Given the description of an element on the screen output the (x, y) to click on. 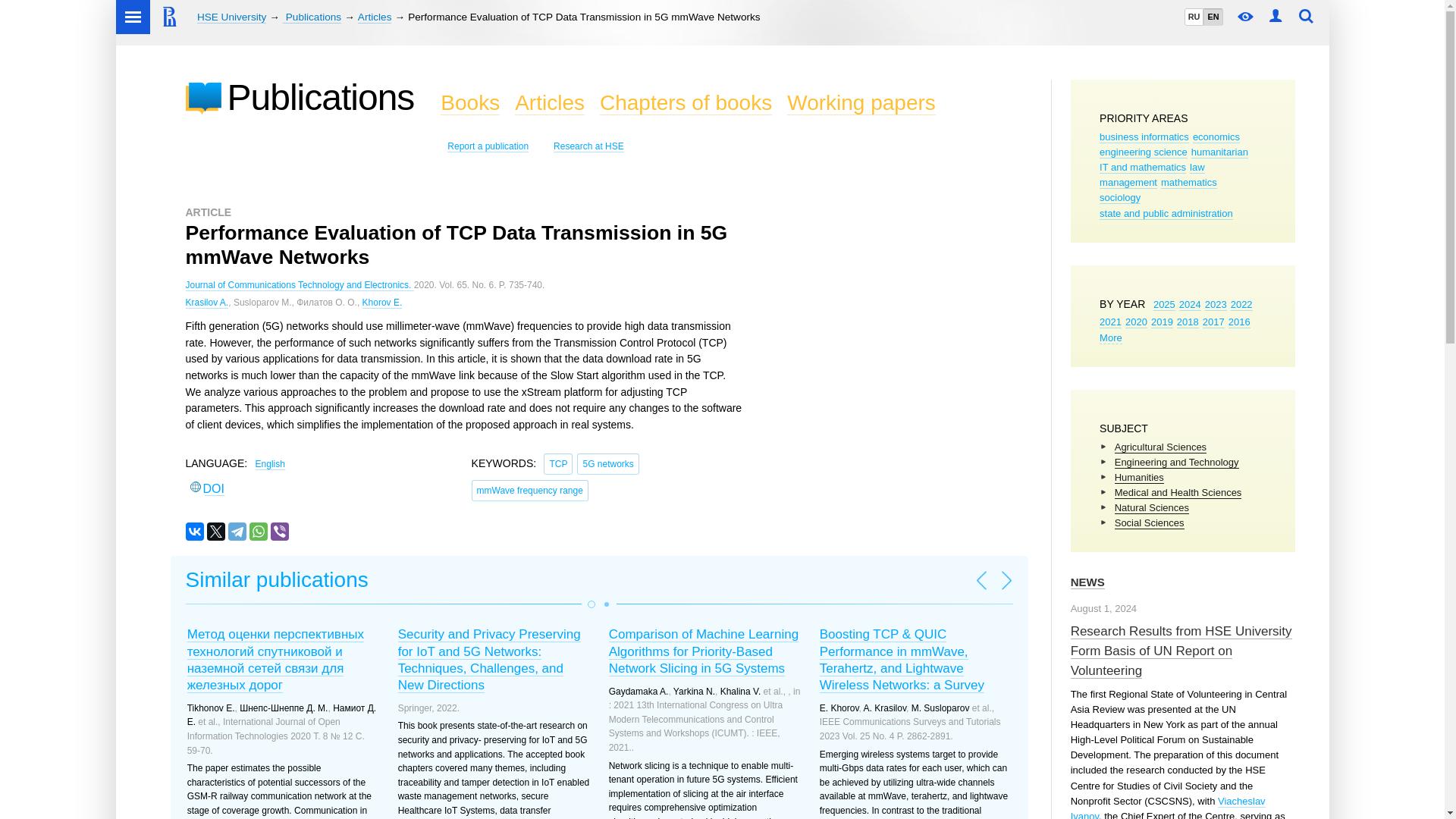
HSE University (231, 17)
business informatics (1144, 137)
2016 (1239, 322)
RU (1194, 17)
economics (1216, 137)
2025 (1163, 304)
2022 (1241, 304)
EN (1212, 17)
2020 (1136, 322)
humanitarian (1219, 152)
2019 (1162, 322)
management (1128, 182)
IT and mathematics (1142, 167)
engineering science (1143, 152)
mathematics (1188, 182)
